Given the description of an element on the screen output the (x, y) to click on. 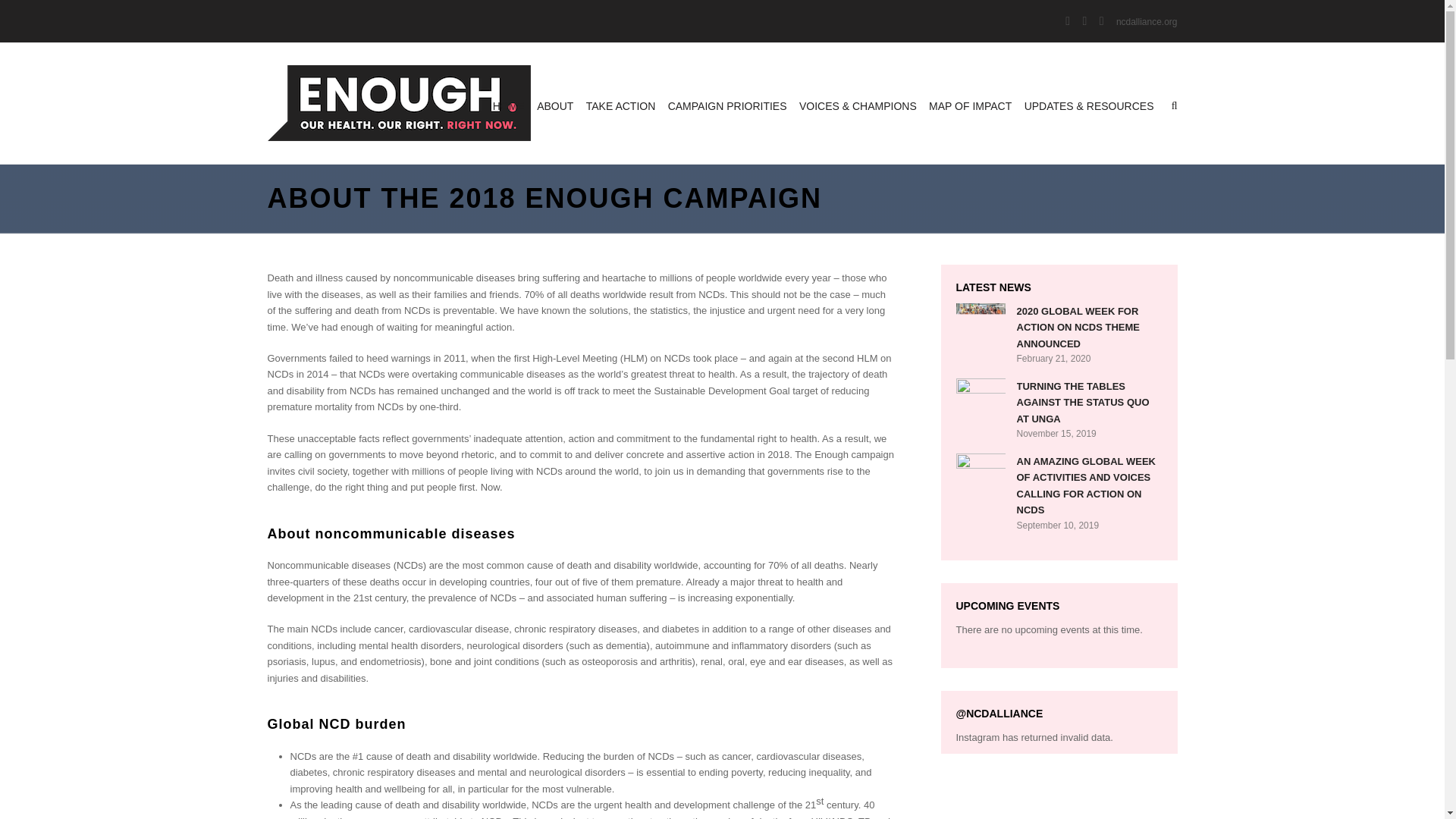
HOME (508, 106)
2020 Global Week for Action on NCDs theme announced (979, 317)
ncdalliance.org (1146, 21)
ABOUT (555, 106)
TAKE ACTION (620, 106)
ABOUT (555, 106)
CAMPAIGN PRIORITIES (726, 106)
Turning the Tables Against the Status Quo at UNGA (979, 392)
TAKE ACTION (620, 106)
